Given the description of an element on the screen output the (x, y) to click on. 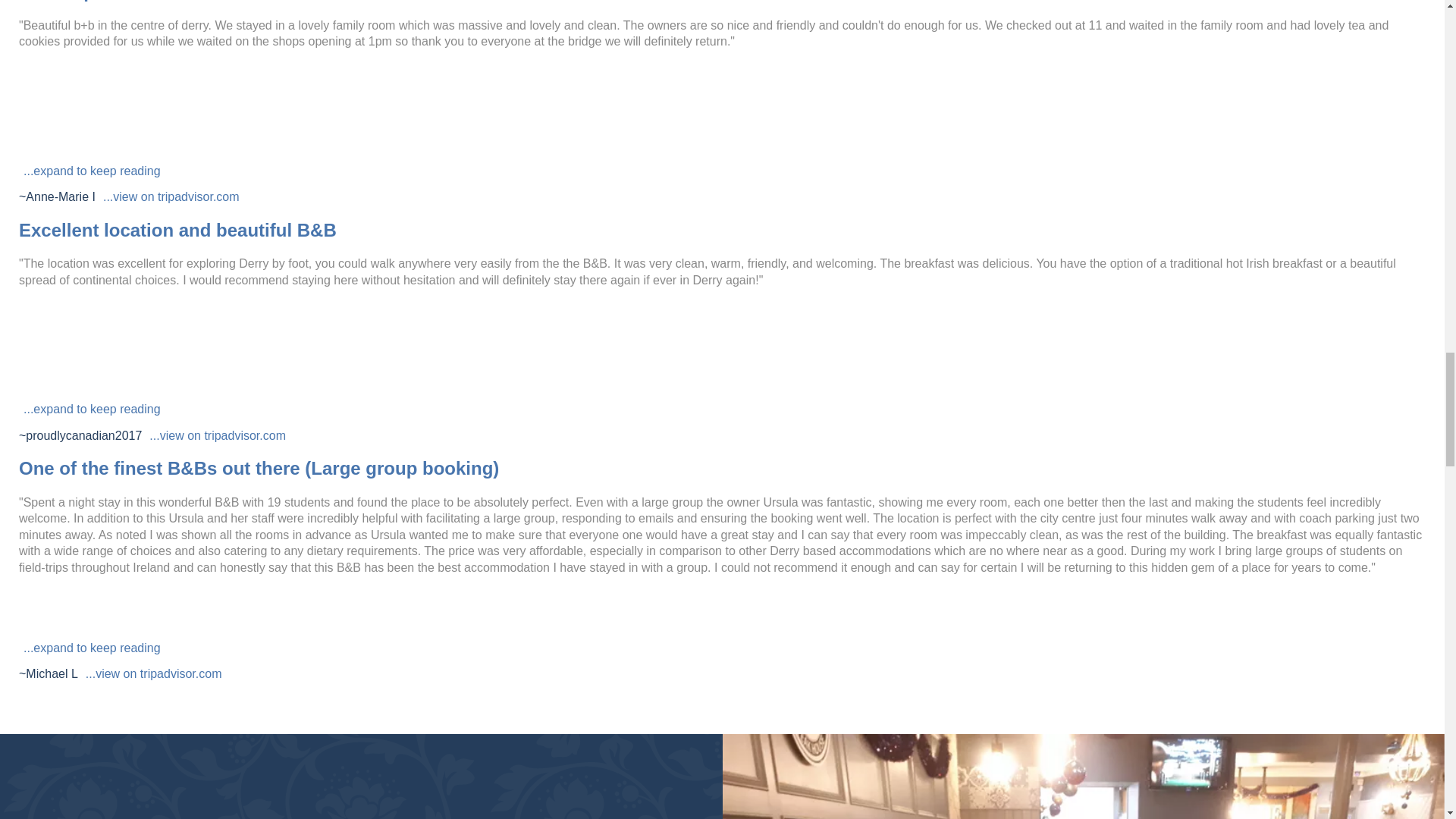
...expand to keep reading (91, 171)
...view on tripadvisor.com (153, 673)
...expand to keep reading (91, 647)
...view on tripadvisor.com (171, 196)
...expand to keep reading (91, 409)
...view on tripadvisor.com (217, 435)
